Given the description of an element on the screen output the (x, y) to click on. 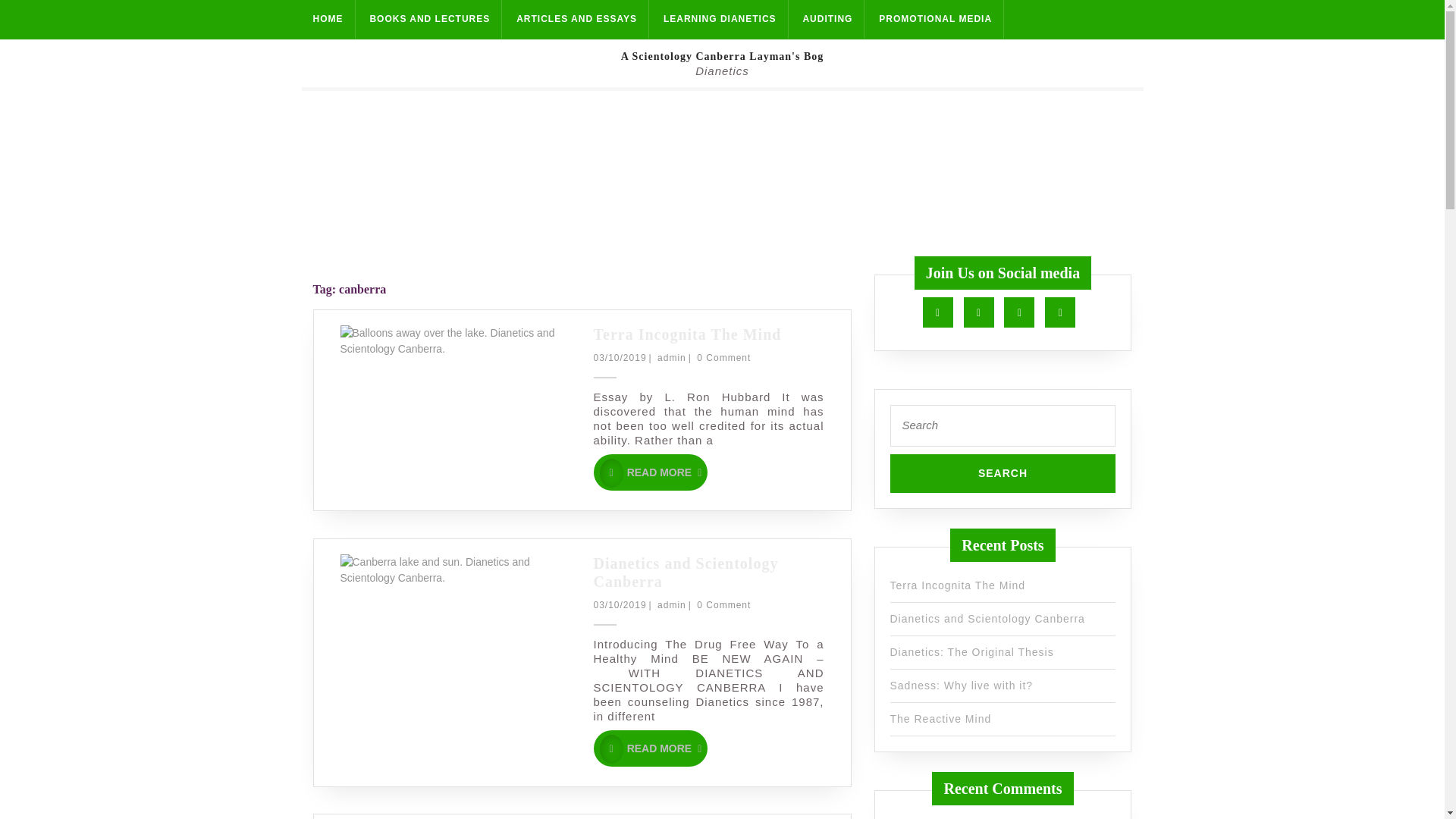
A Scientology Canberra Layman's Bog (722, 56)
Sadness: Why live with it? (961, 685)
PROMOTIONAL MEDIA (935, 19)
Search (1002, 472)
ARTICLES AND ESSAYS (577, 19)
Search (1002, 472)
Search (649, 748)
LEARNING DIANETICS (1002, 472)
The Reactive Mind (720, 19)
